Given the description of an element on the screen output the (x, y) to click on. 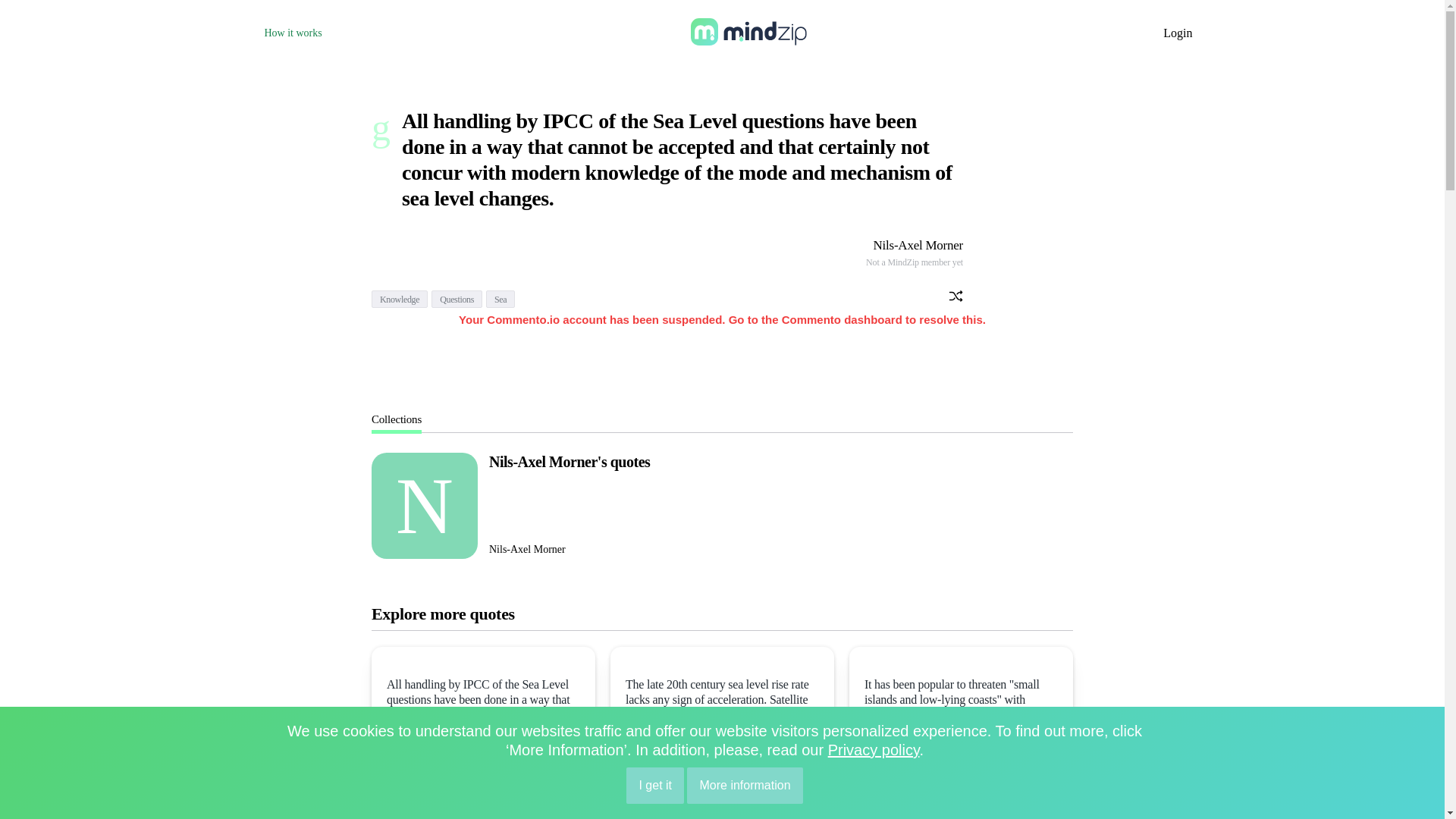
Login (1177, 31)
Nils-Axel Morner's quotes (569, 461)
Collections (396, 418)
How it works (292, 32)
Nils-Axel Morner (527, 549)
Nils-Axel Morner (917, 245)
Show random quote (955, 297)
N (424, 505)
